Given the description of an element on the screen output the (x, y) to click on. 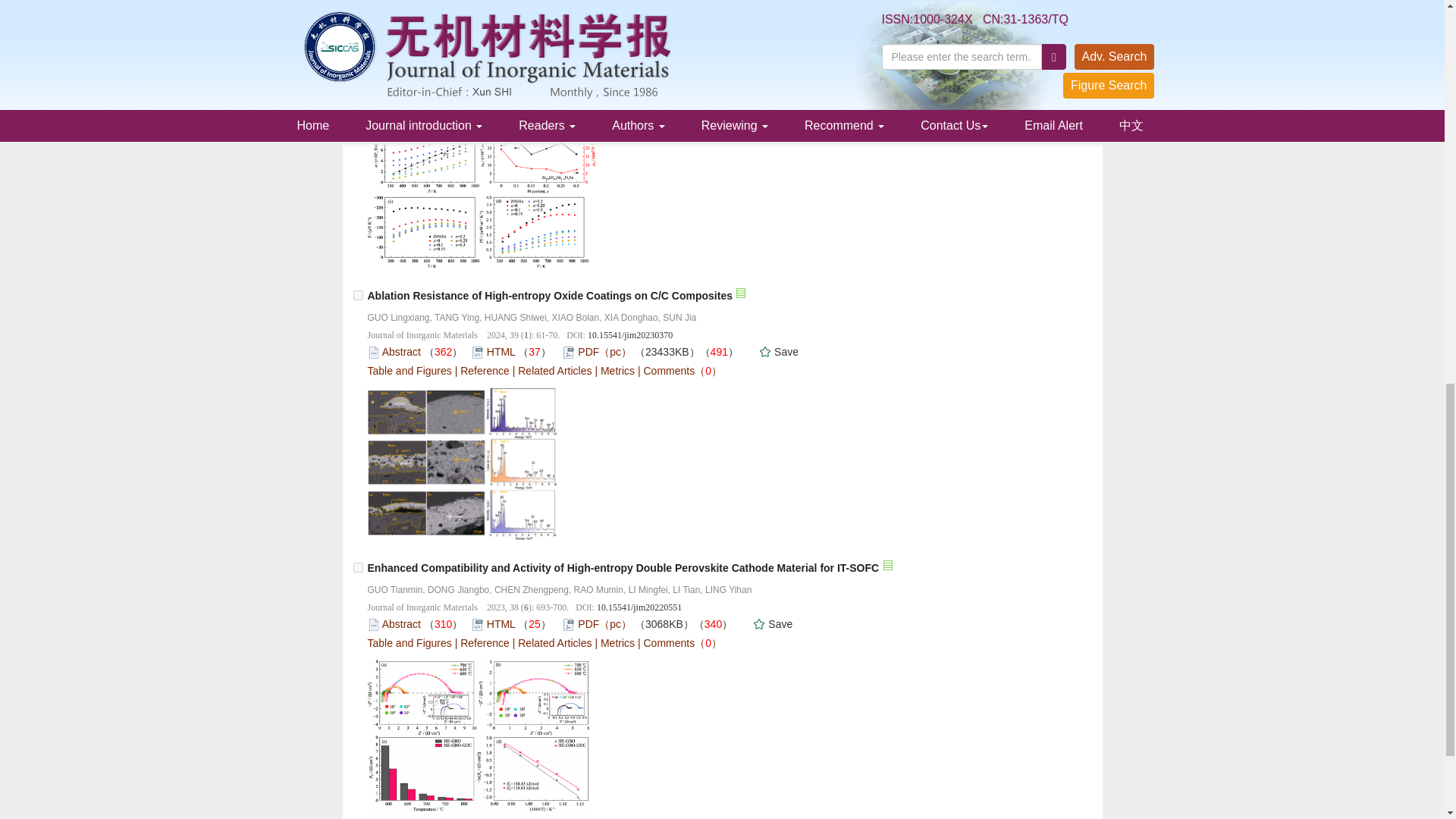
14778 (357, 567)
14941 (357, 295)
14623 (357, 28)
